Given the description of an element on the screen output the (x, y) to click on. 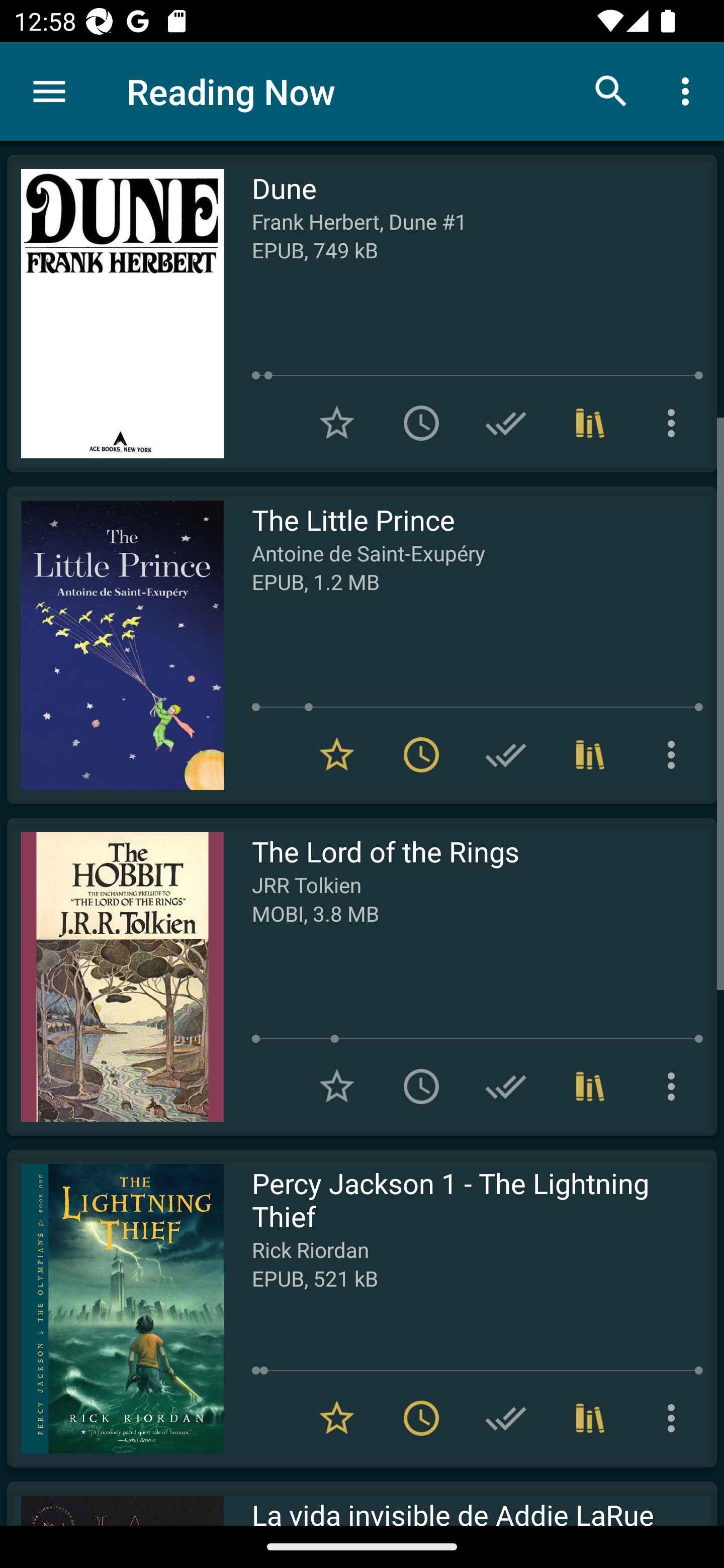
Menu (49, 91)
Search books & documents (611, 90)
More options (688, 90)
Read Dune (115, 313)
Add to Favorites (336, 423)
Add to To read (421, 423)
Add to Have read (505, 423)
Collections (1) (590, 423)
More options (674, 423)
Read The Little Prince (115, 645)
Remove from Favorites (336, 753)
Remove from To read (421, 753)
Add to Have read (505, 753)
Collections (1) (590, 753)
More options (674, 753)
Read The Lord of the Rings (115, 976)
Add to Favorites (336, 1086)
Add to To read (421, 1086)
Add to Have read (505, 1086)
Collections (1) (590, 1086)
More options (674, 1086)
Read Percy Jackson 1 - The Lightning Thief (115, 1308)
Remove from Favorites (336, 1417)
Remove from To read (421, 1417)
Add to Have read (505, 1417)
Collections (1) (590, 1417)
More options (674, 1417)
